Given the description of an element on the screen output the (x, y) to click on. 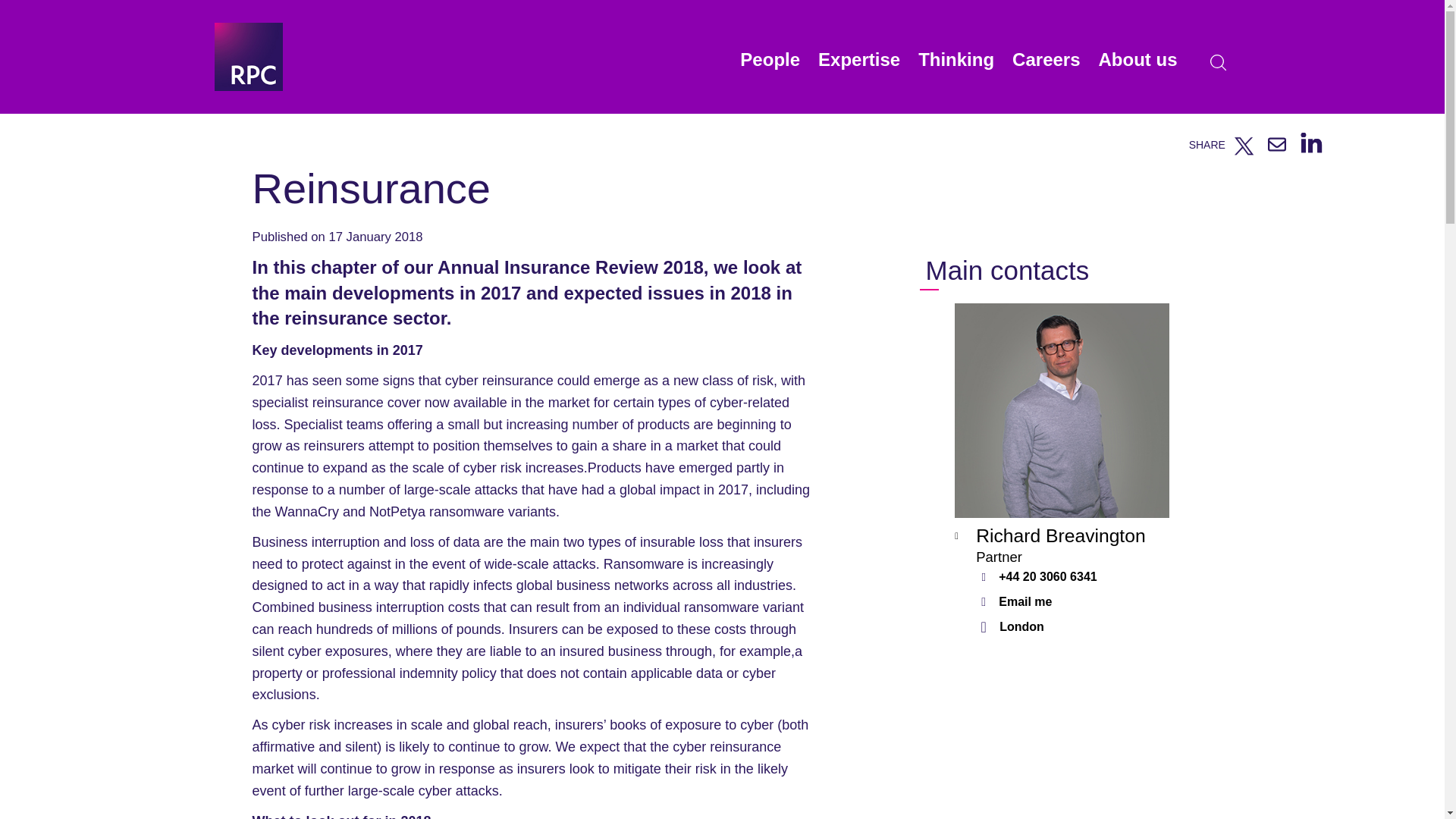
Thinking (955, 66)
People (769, 66)
Careers (1046, 66)
Expertise (858, 66)
